Given the description of an element on the screen output the (x, y) to click on. 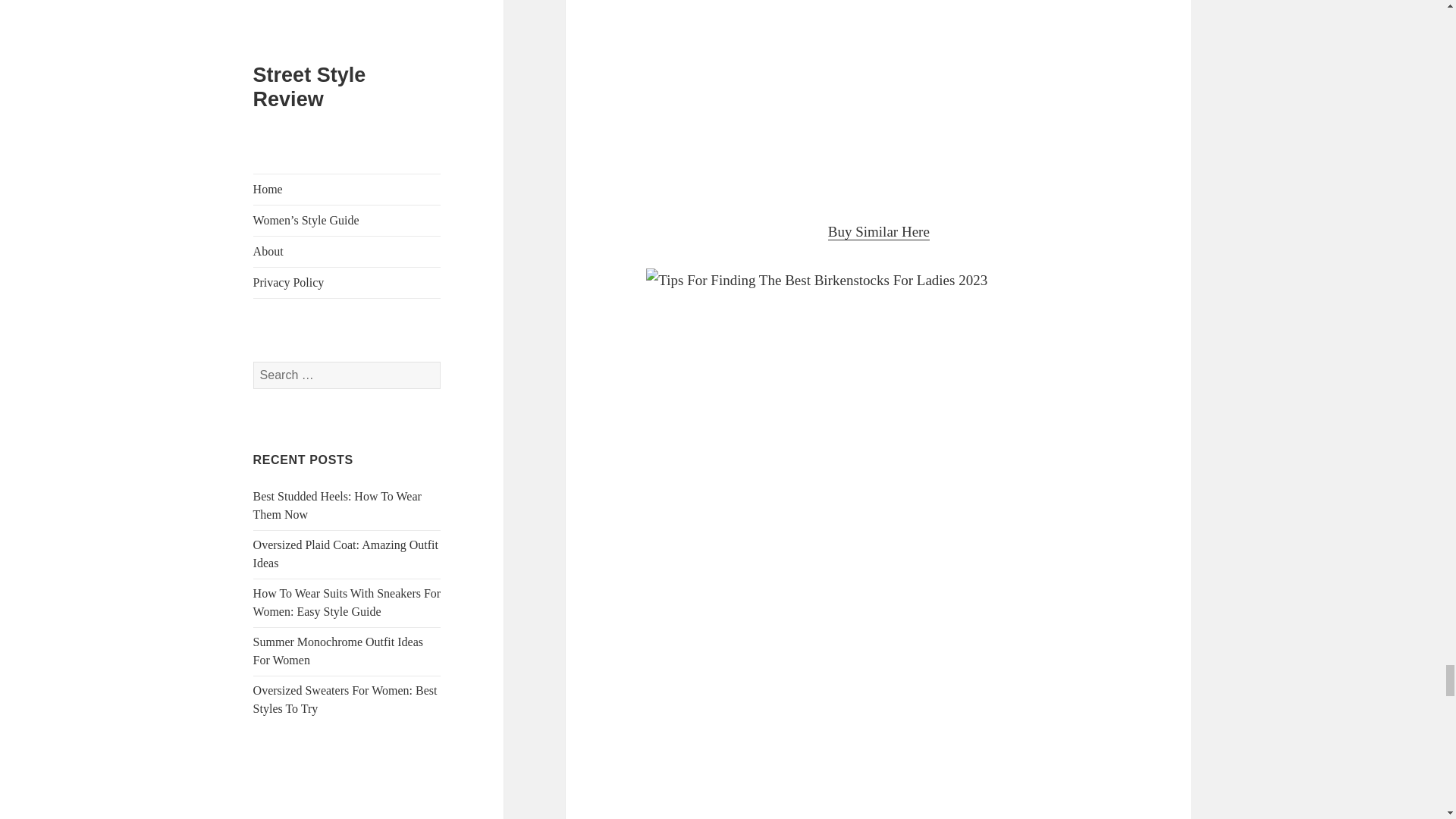
Buy Similar Here (879, 231)
